Given the description of an element on the screen output the (x, y) to click on. 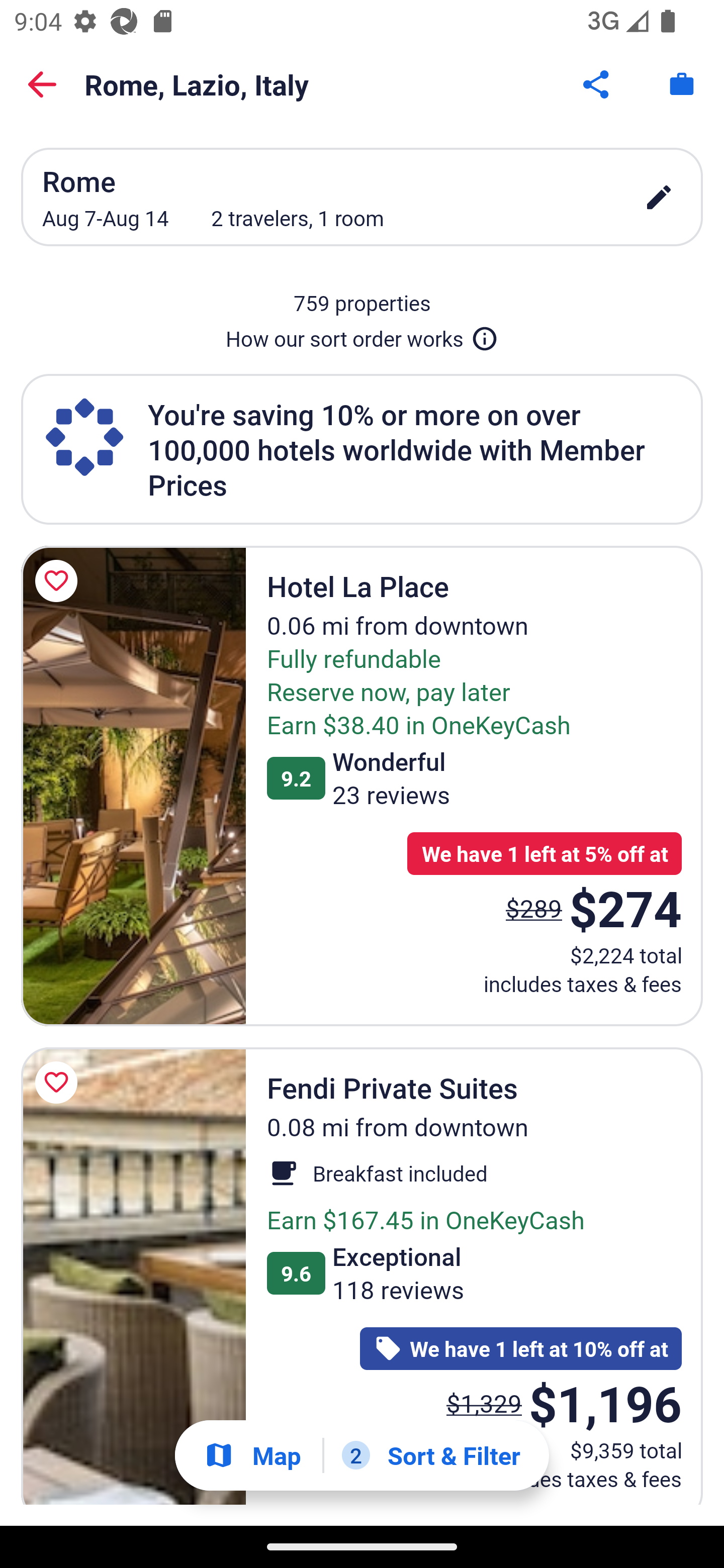
Back (42, 84)
Share Button (597, 84)
Trips. Button (681, 84)
Rome Aug 7-Aug 14 2 travelers, 1 room edit (361, 196)
How our sort order works (361, 334)
Save Hotel La Place to a trip (59, 580)
Hotel La Place (133, 785)
$289 The price was $289 (533, 907)
Save Fendi Private Suites to a trip (59, 1081)
Fendi Private Suites (133, 1276)
$1,329 The price was $1,329 (483, 1403)
2 Sort & Filter 2 Filters applied. Filters Button (430, 1455)
Show map Map Show map Button (252, 1455)
